Given the description of an element on the screen output the (x, y) to click on. 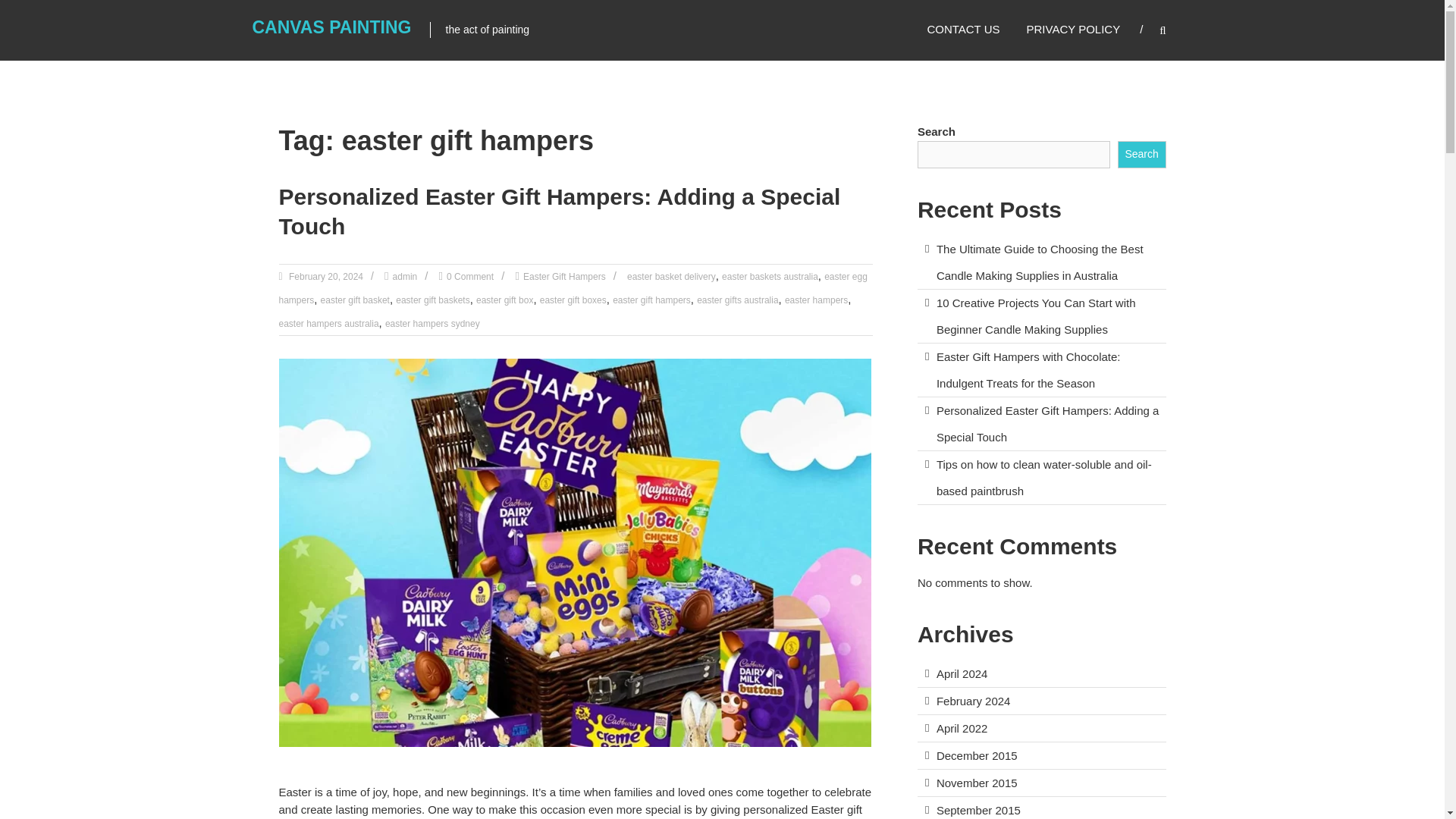
easter gift basket (355, 299)
Search (1232, 409)
easter gift baskets (432, 299)
easter hampers australia (328, 323)
Personalized Easter Gift Hampers: Adding a Special Touch (560, 211)
February 20, 2024 (324, 276)
November 2015 (976, 782)
easter hampers (815, 299)
easter gift box (504, 299)
